Given the description of an element on the screen output the (x, y) to click on. 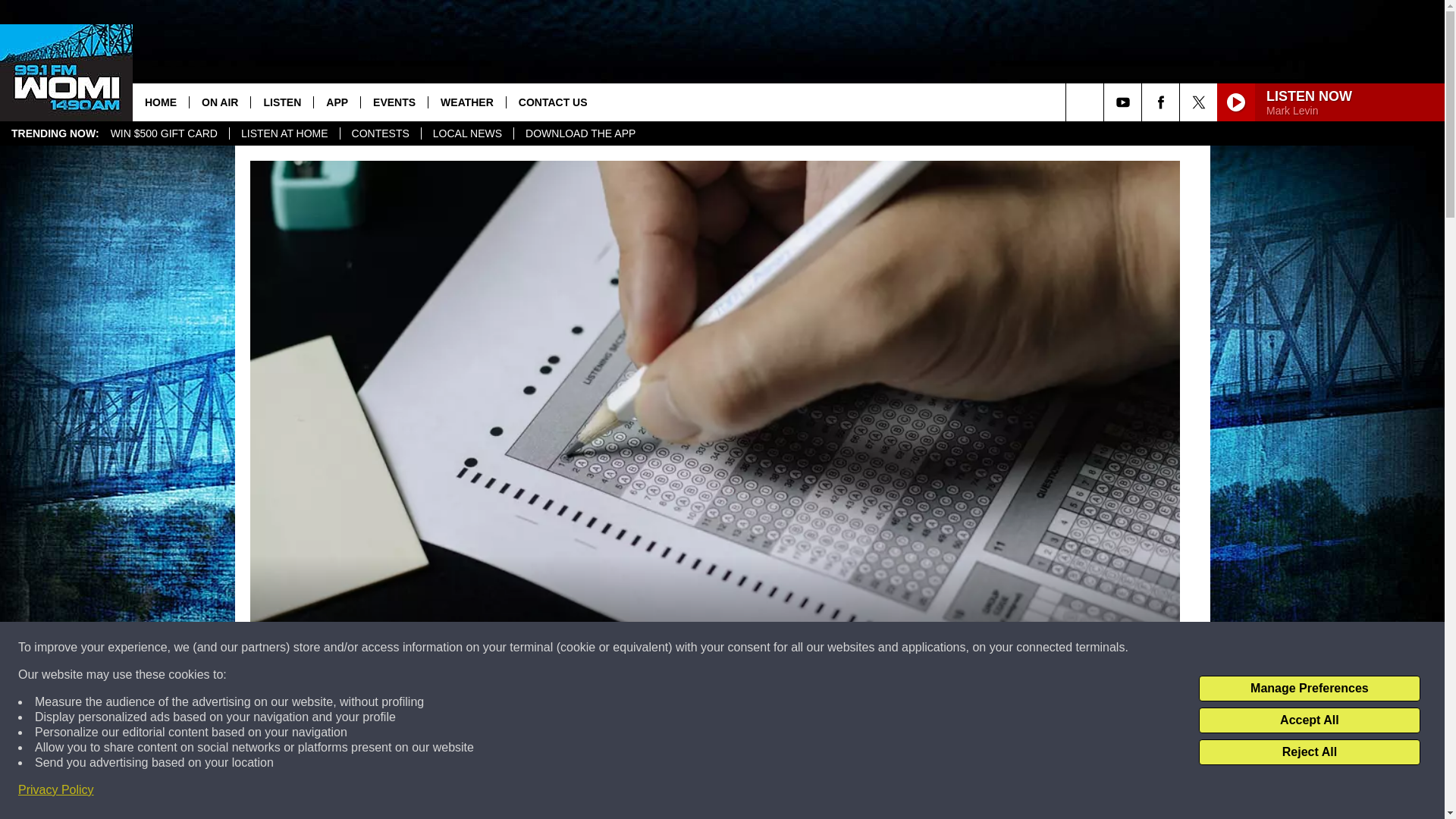
HOME (160, 102)
LOCAL NEWS (466, 133)
CONTESTS (379, 133)
EVENTS (393, 102)
Share on Facebook (517, 791)
ON AIR (219, 102)
Manage Preferences (1309, 688)
LISTEN AT HOME (283, 133)
APP (336, 102)
Share on Twitter (912, 791)
LISTEN (281, 102)
CONTACT US (552, 102)
WEATHER (466, 102)
Privacy Policy (55, 789)
Accept All (1309, 720)
